Given the description of an element on the screen output the (x, y) to click on. 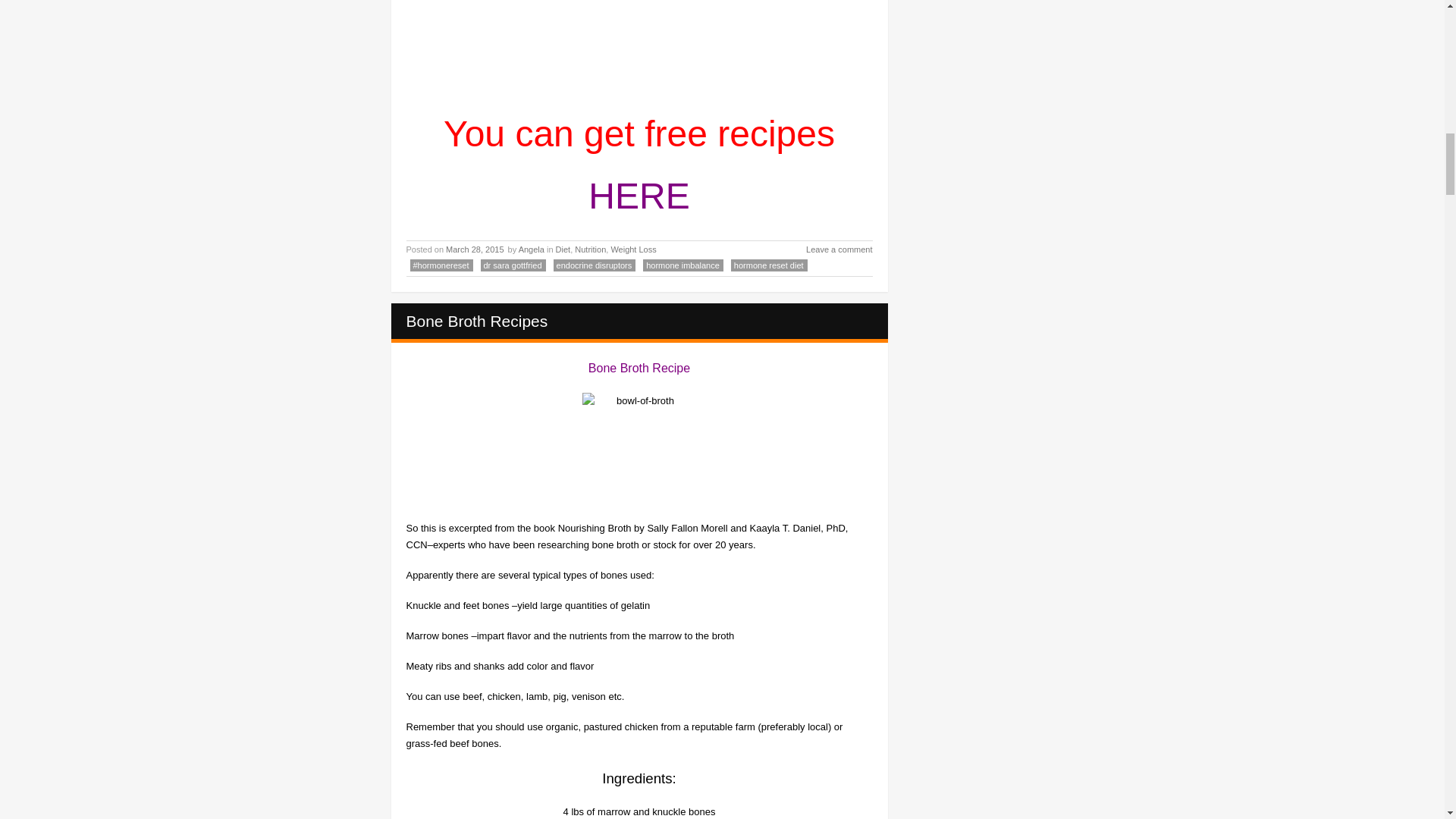
Diet (563, 248)
March 28, 2015 (475, 248)
hormone imbalance (683, 265)
endocrine disruptors (594, 265)
Nutrition (590, 248)
Weight Loss (633, 248)
Angela (531, 248)
HERE (638, 196)
hormone reset diet (769, 265)
Read Bone Broth Recipes (477, 321)
View all posts by Angela (531, 248)
Bone Broth Recipes (477, 321)
Leave a comment (830, 250)
5:47 pm (475, 248)
dr sara gottfried (513, 265)
